Given the description of an element on the screen output the (x, y) to click on. 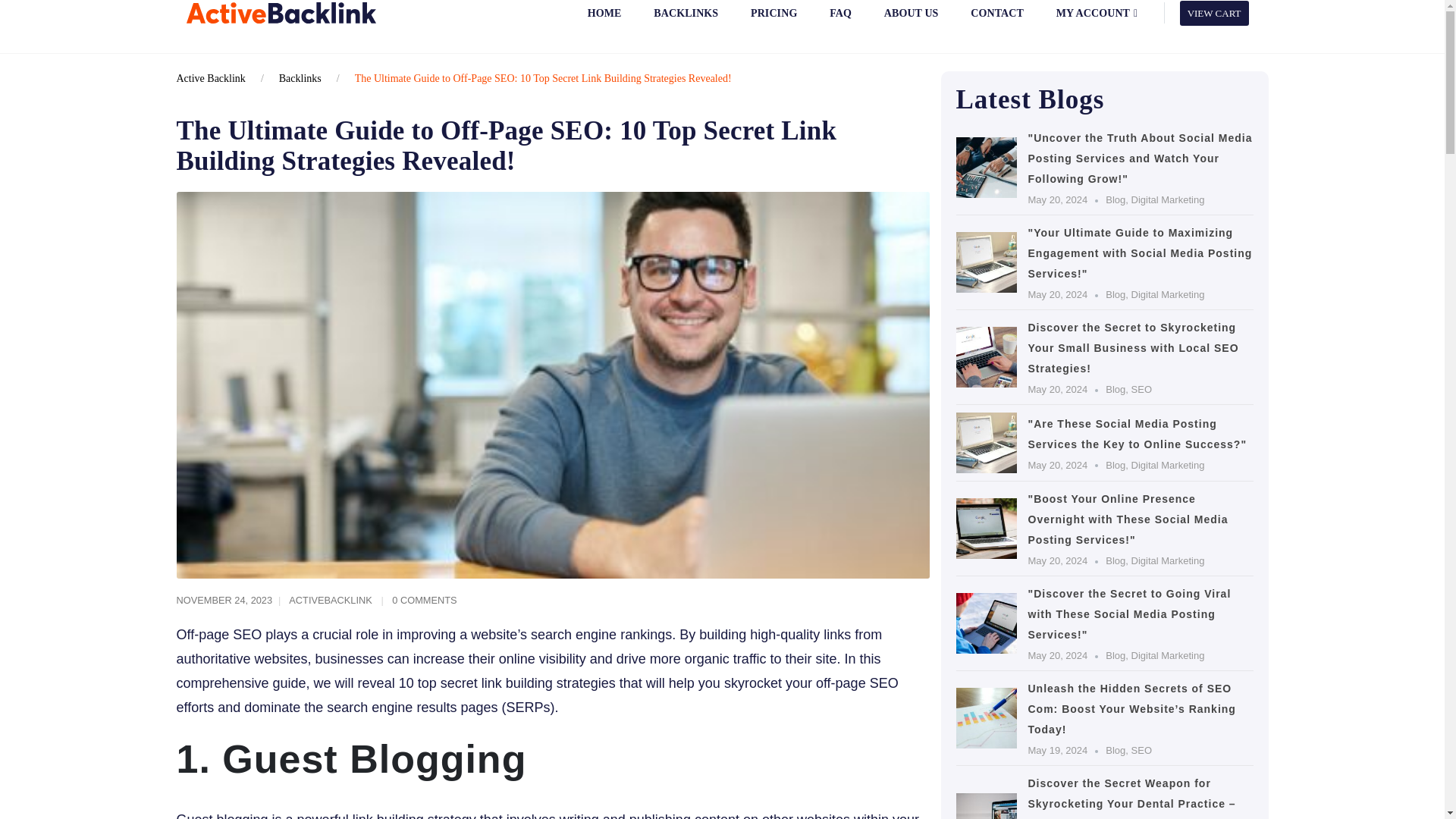
ACTIVEBACKLINK (330, 600)
PRICING (773, 20)
MY ACCOUNT (1096, 20)
0 COMMENTS (424, 600)
VIEW CART (1214, 12)
Posts by activebacklink (330, 600)
BACKLINKS (685, 20)
